Given the description of an element on the screen output the (x, y) to click on. 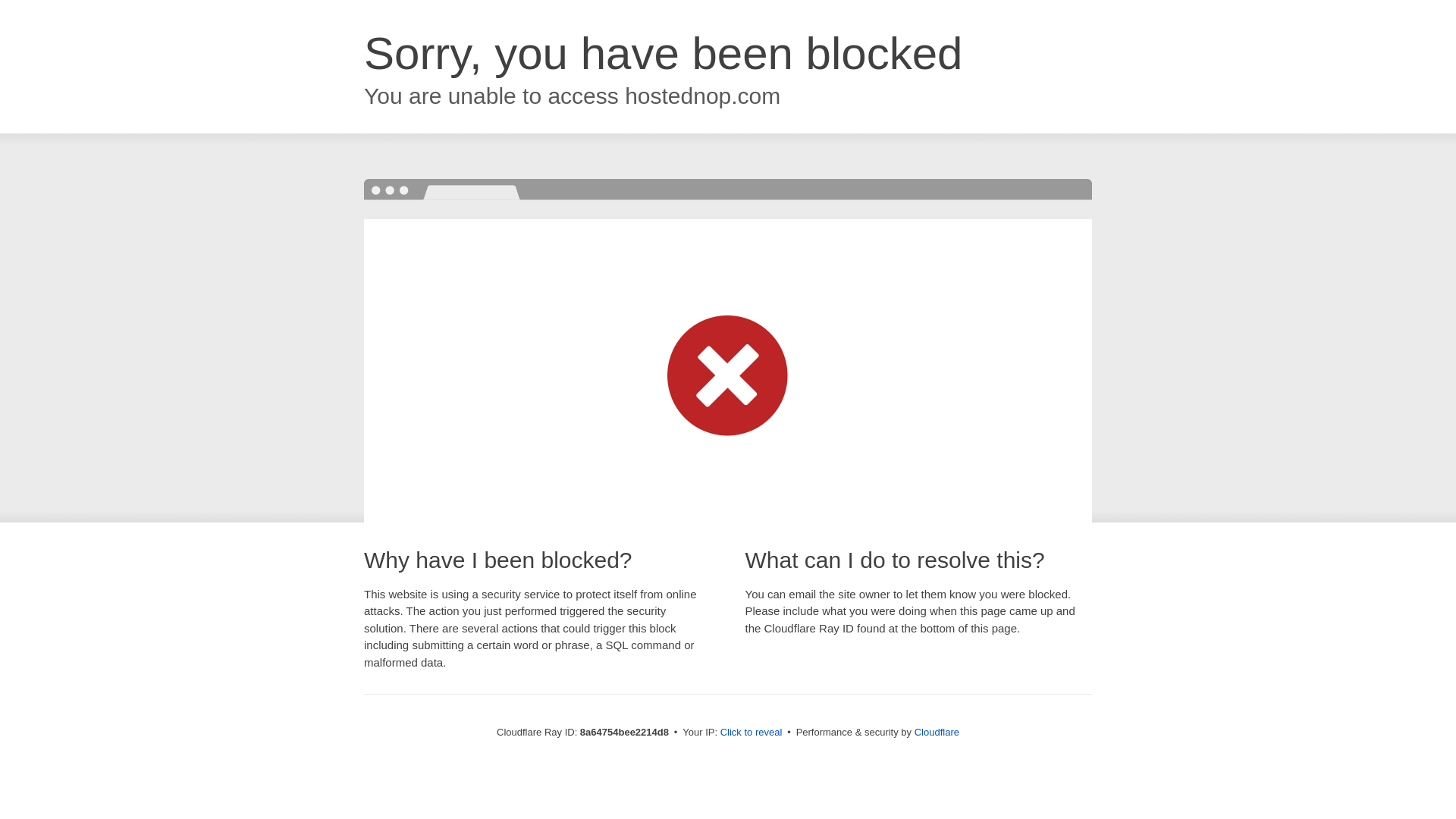
Click to reveal (751, 732)
Cloudflare (936, 731)
